Given the description of an element on the screen output the (x, y) to click on. 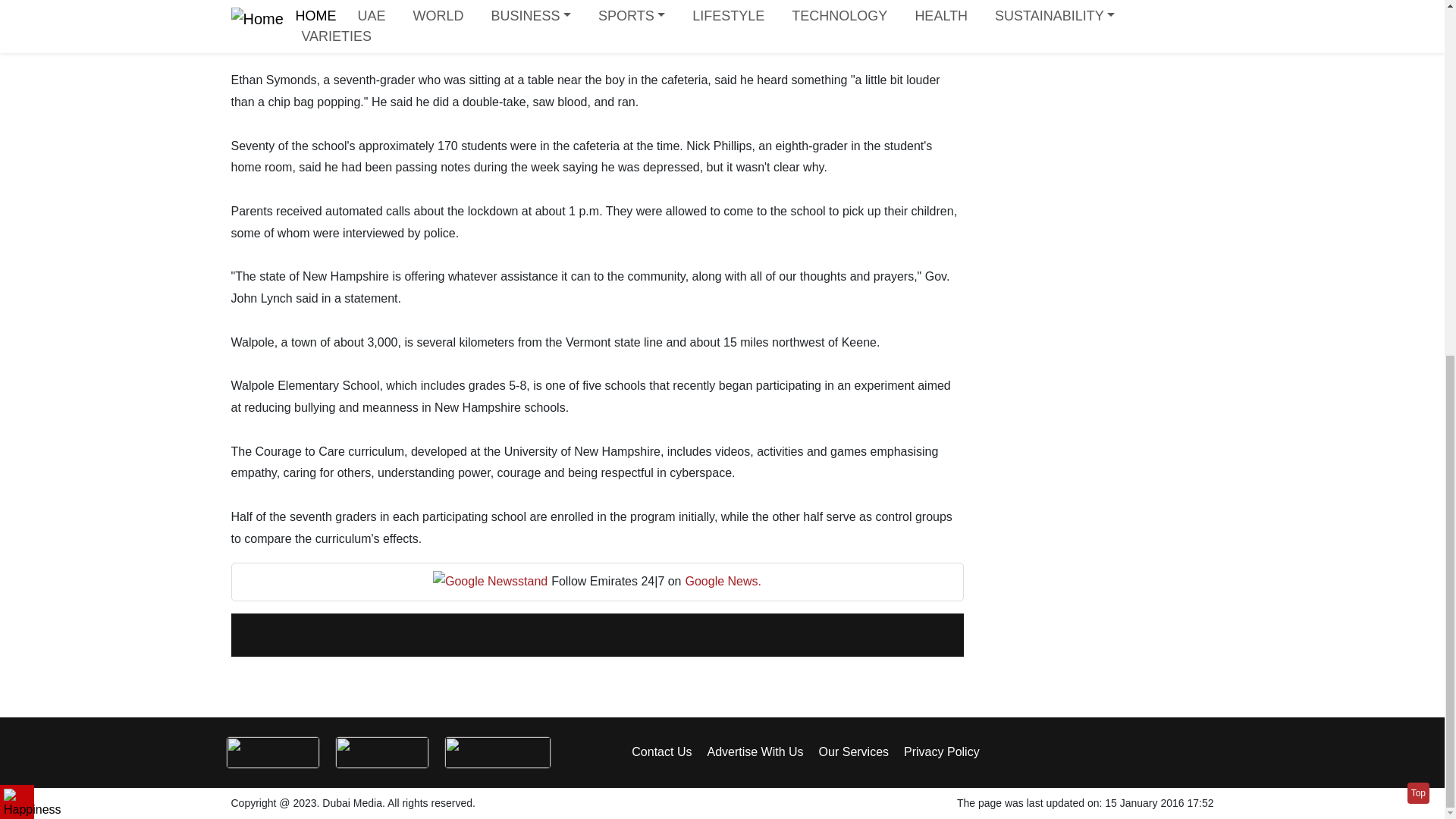
Go to top (1418, 168)
Google News. (723, 581)
